Given the description of an element on the screen output the (x, y) to click on. 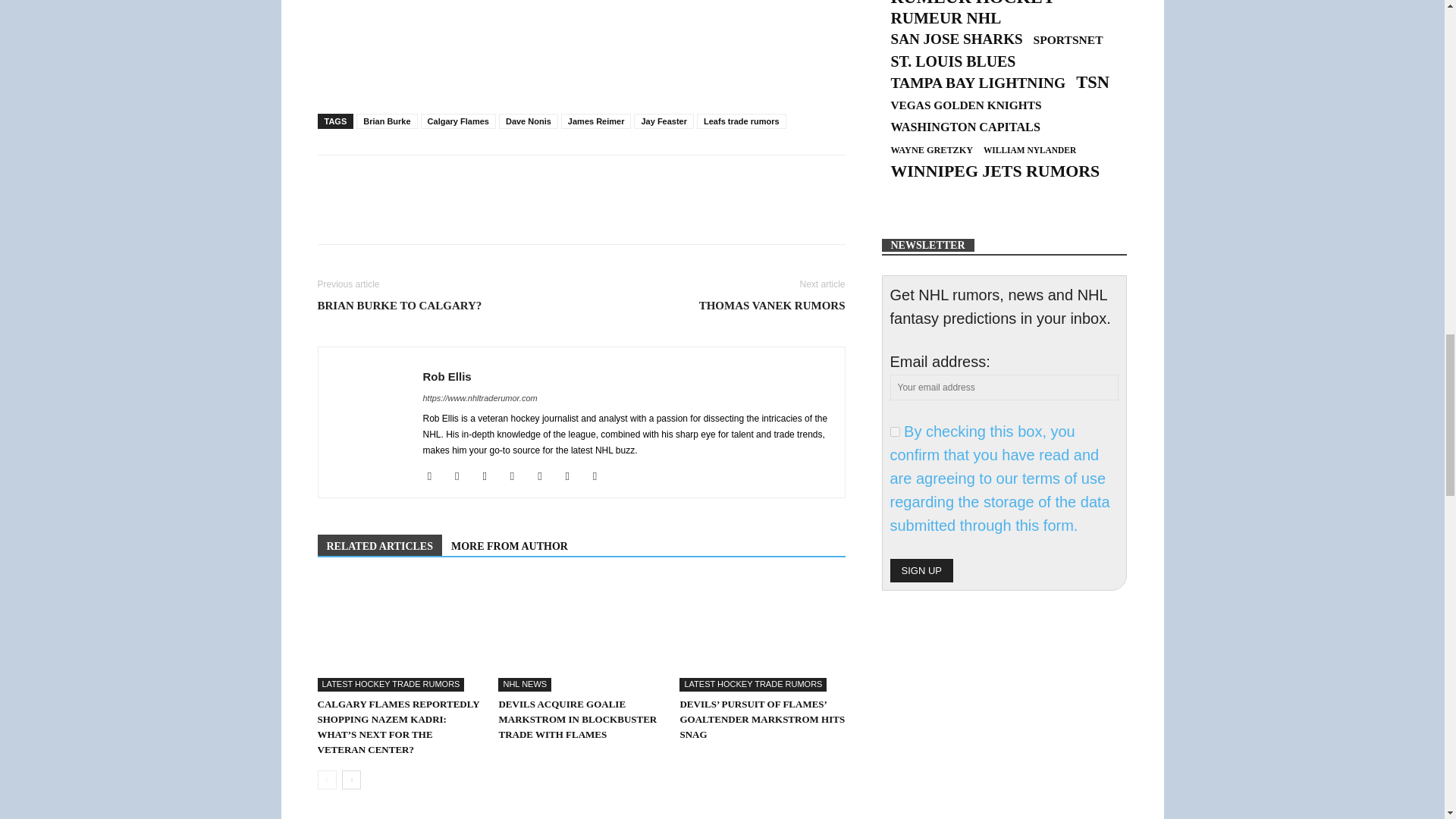
Sign up (921, 570)
1 (894, 431)
